Given the description of an element on the screen output the (x, y) to click on. 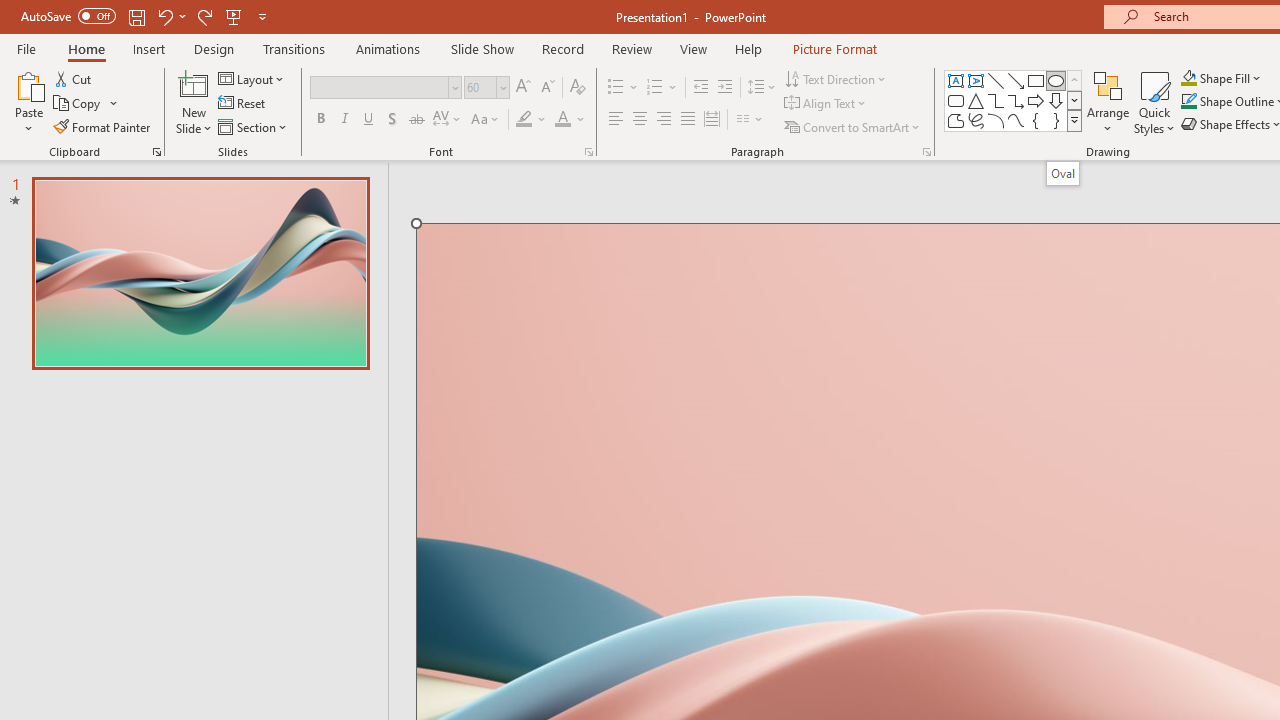
Picture Format (834, 48)
